Given the description of an element on the screen output the (x, y) to click on. 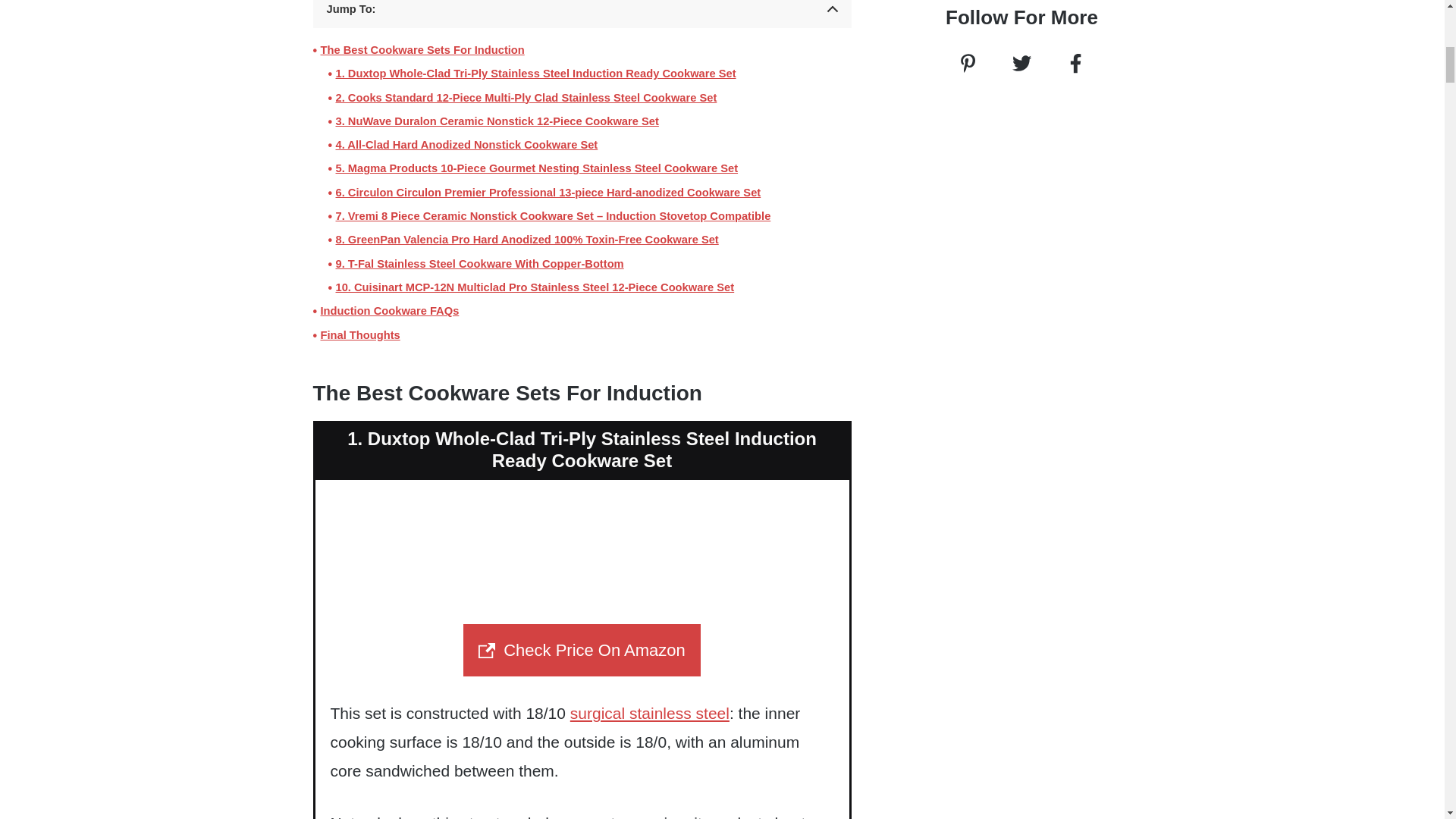
3. NuWave Duralon Ceramic Nonstick 12-Piece Cookware Set (496, 121)
The Best Cookware Sets For Induction (422, 50)
Final Thoughts (359, 334)
9. T-Fal Stainless Steel Cookware With Copper-Bottom (478, 263)
4. All-Clad Hard Anodized Nonstick Cookware Set (465, 145)
Induction Cookware FAQs (389, 311)
